Given the description of an element on the screen output the (x, y) to click on. 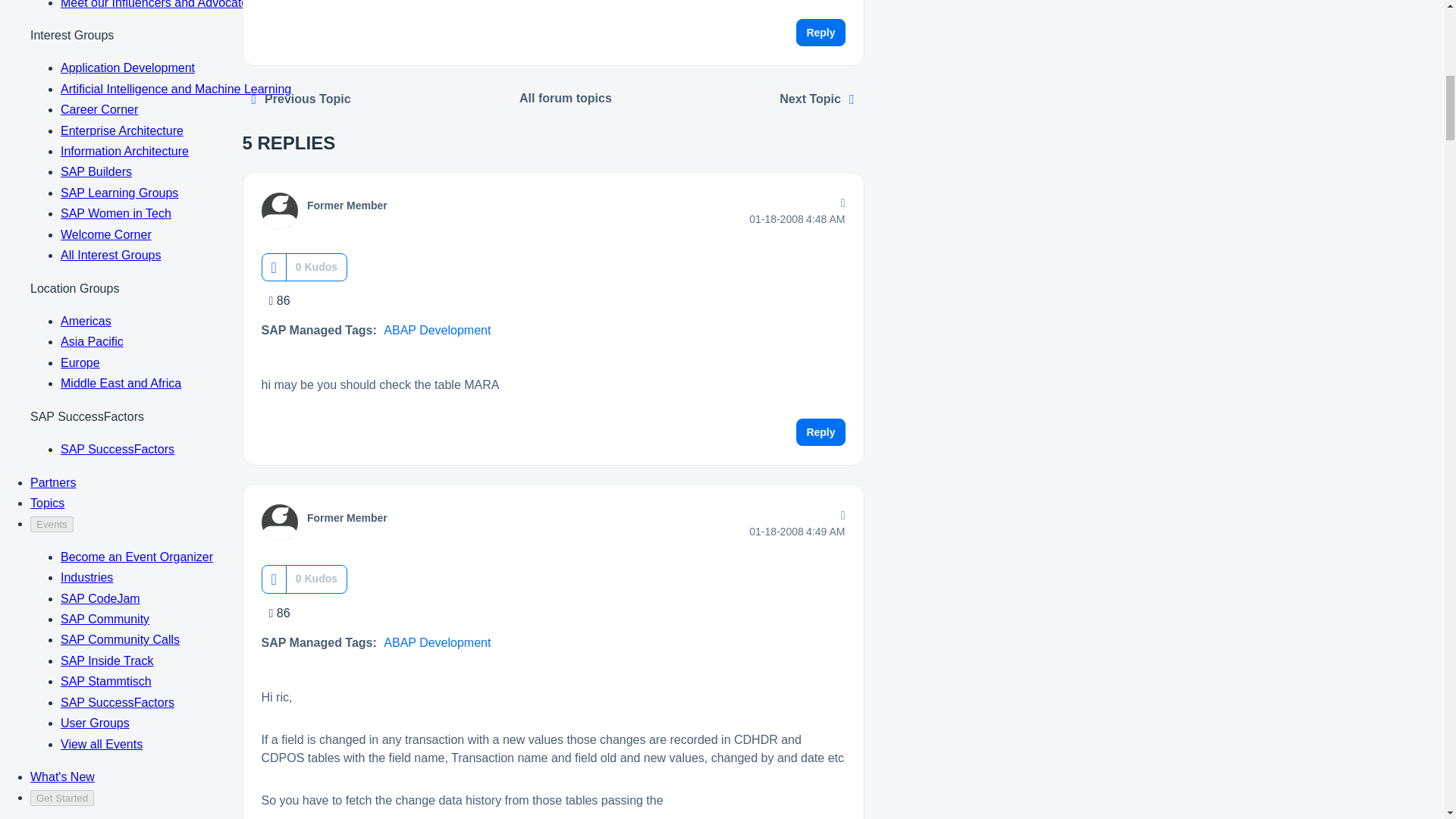
Reply (820, 31)
Application Development Discussions (565, 98)
Next Topic (816, 99)
Reply (820, 431)
Previous Topic (300, 99)
PO with cumalitive totals (300, 99)
All forum topics (565, 98)
ABAP Development (437, 329)
